Given the description of an element on the screen output the (x, y) to click on. 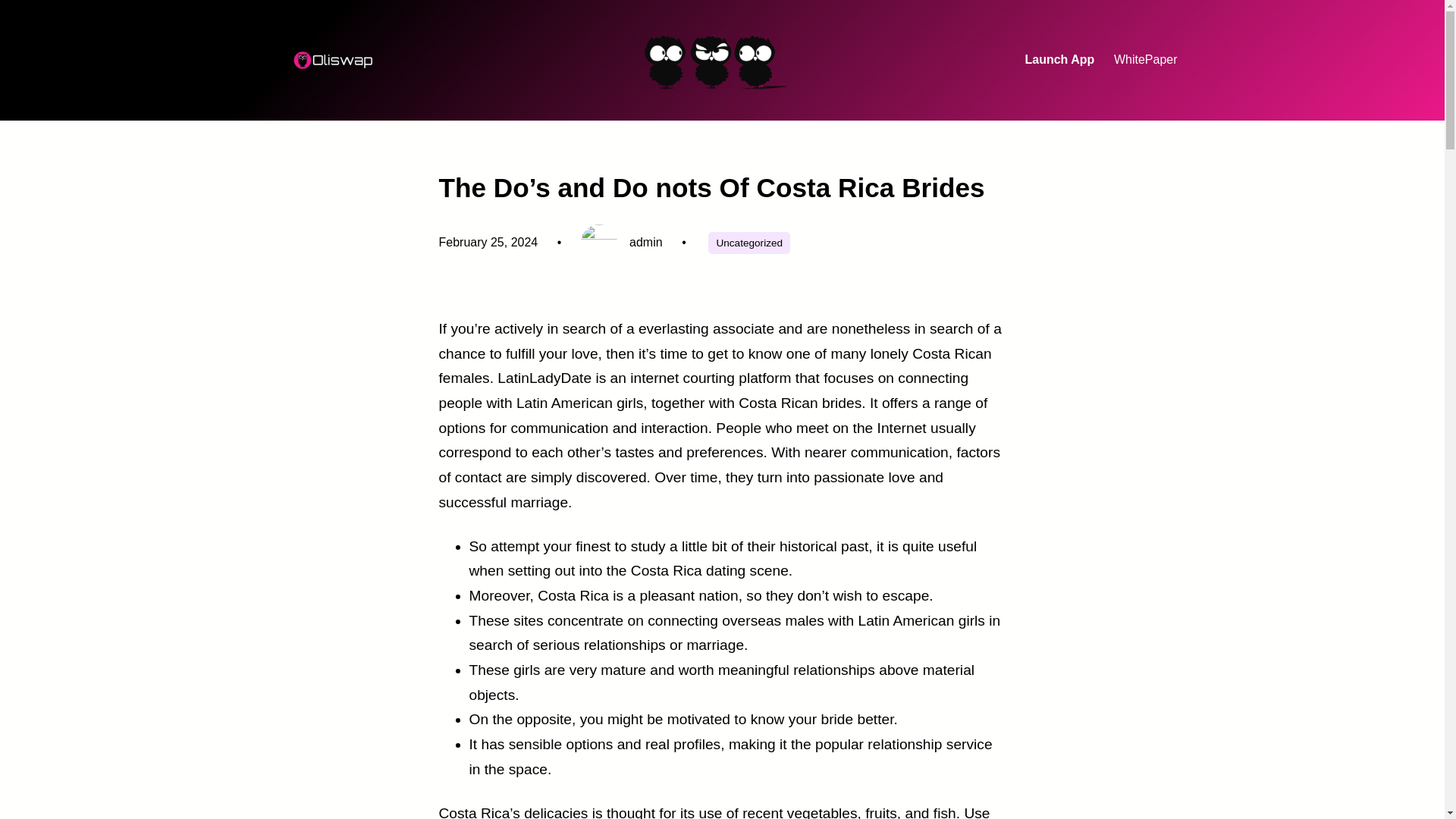
Launch App (1059, 60)
Uncategorized (748, 242)
WhitePaper (1145, 60)
